Given the description of an element on the screen output the (x, y) to click on. 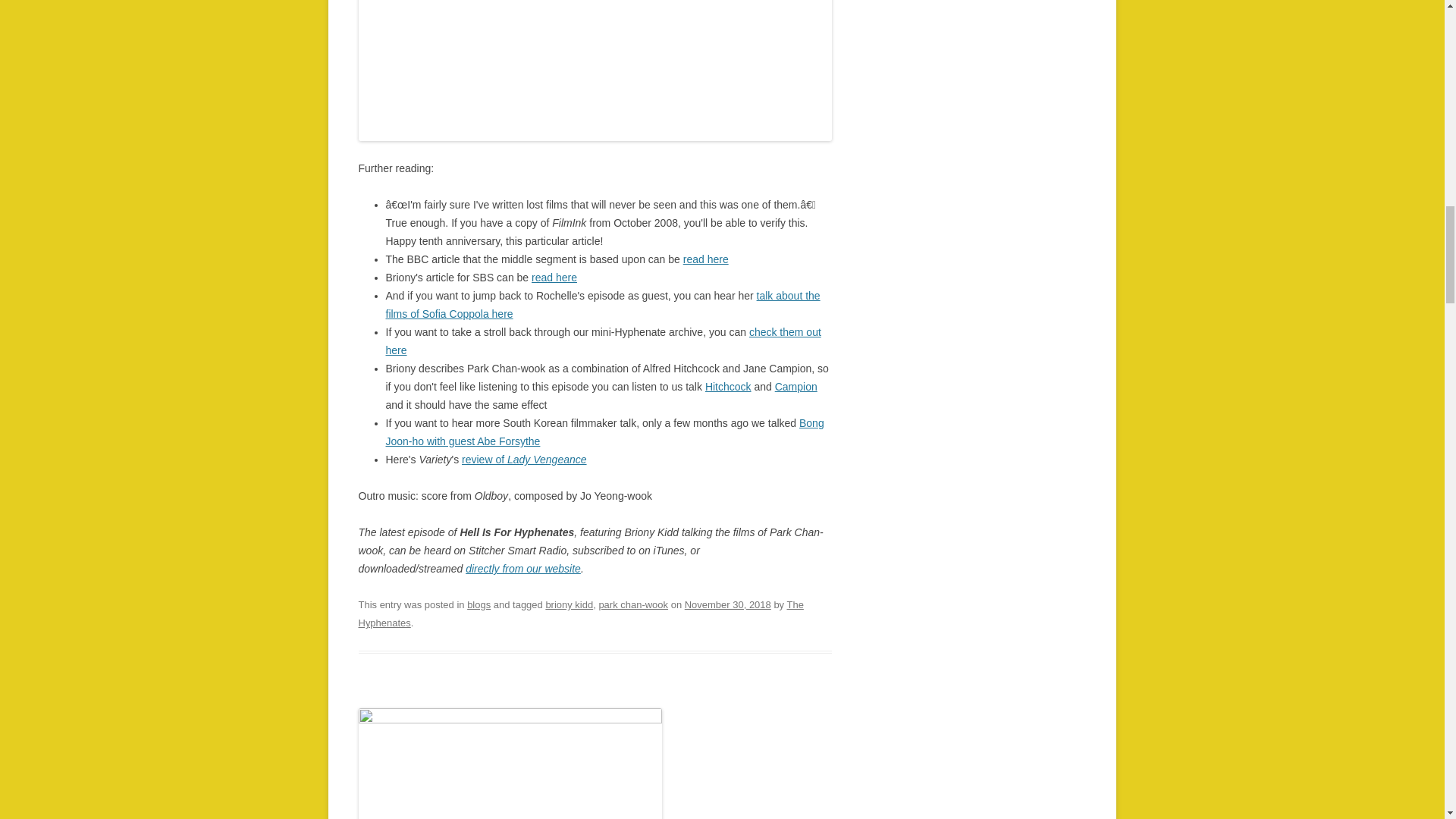
Campion (795, 386)
Hitchcock (727, 386)
View all posts by The Hyphenates (580, 613)
check them out here (603, 340)
directly from our website (522, 568)
6:05 am (727, 604)
read here (553, 277)
review of Lady Vengeance (523, 459)
read here (705, 259)
park chan-wook (633, 604)
